Given the description of an element on the screen output the (x, y) to click on. 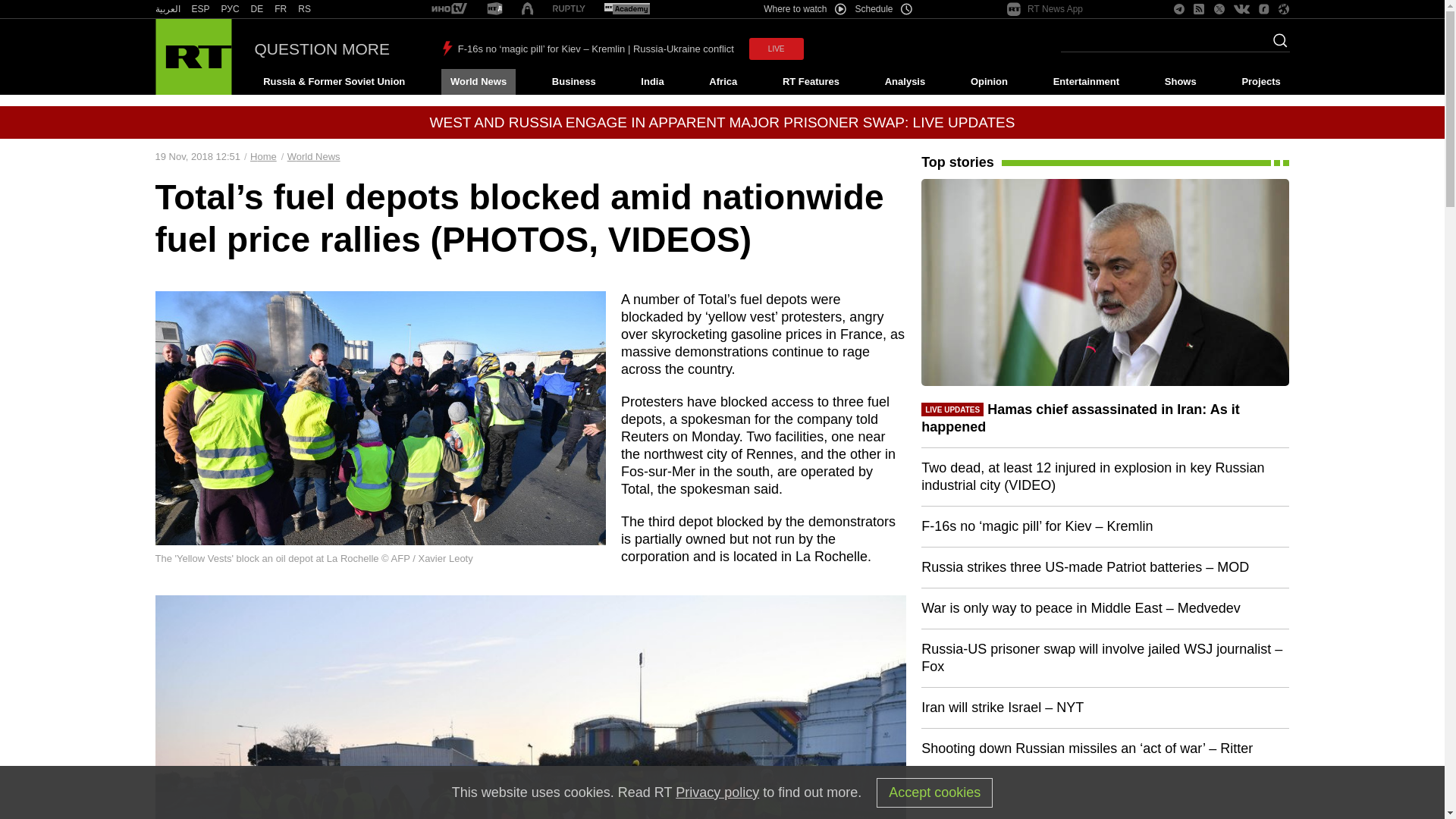
Search (1276, 44)
RT News App (1045, 9)
LIVE (776, 48)
RT  (166, 9)
Entertainment (1085, 81)
Opinion (988, 81)
Africa (722, 81)
RT  (256, 9)
Shows (1180, 81)
Projects (1261, 81)
